Given the description of an element on the screen output the (x, y) to click on. 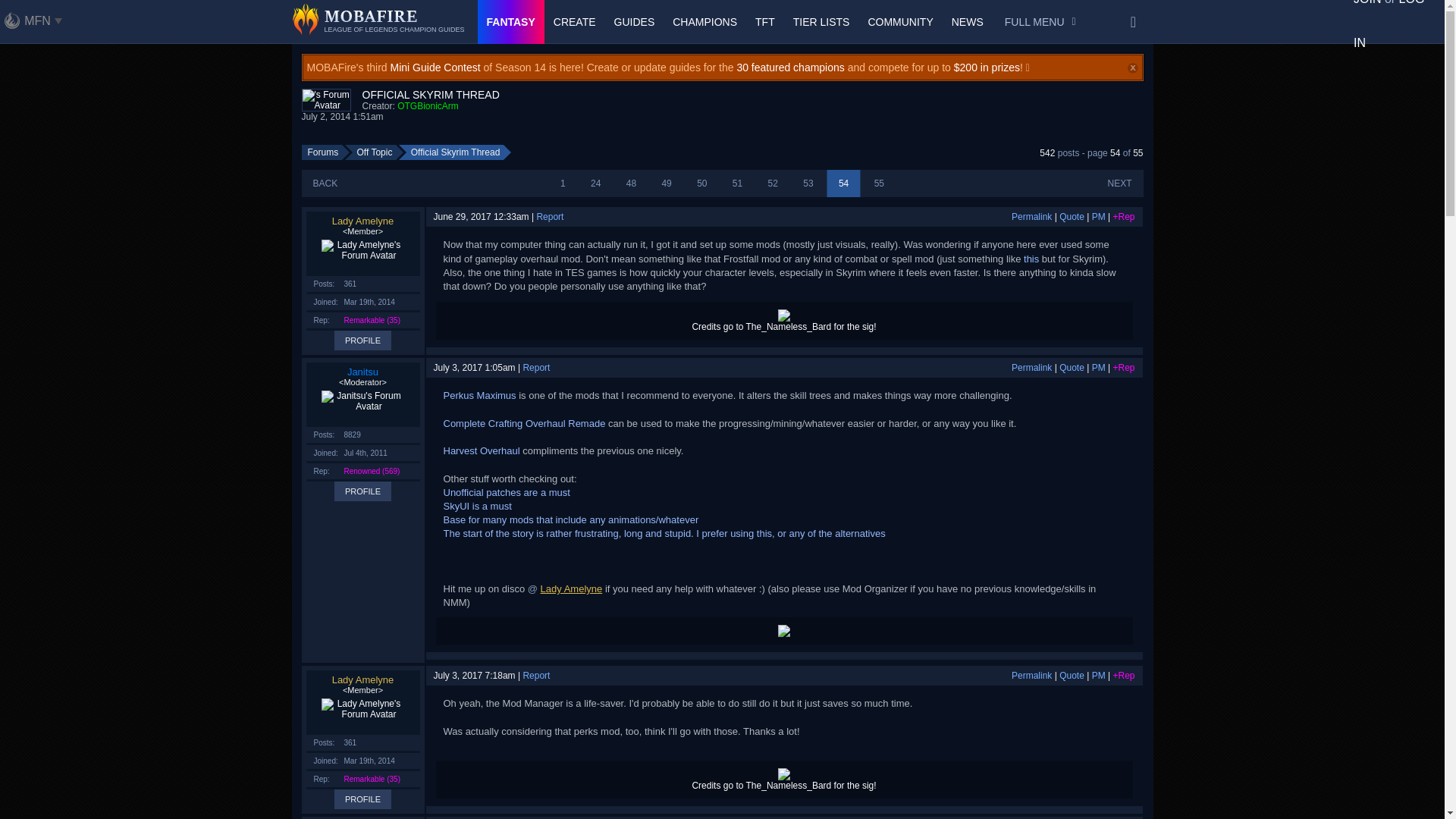
FULL MENU (1039, 22)
FANTASY (510, 22)
CREATE (574, 22)
LEAGUE OF LEGENDS CHAMPION GUIDES (378, 22)
COMMUNITY (900, 22)
CHAMPIONS (704, 22)
TIER LISTS (821, 22)
GUIDES (634, 22)
NEWS (967, 22)
